Given the description of an element on the screen output the (x, y) to click on. 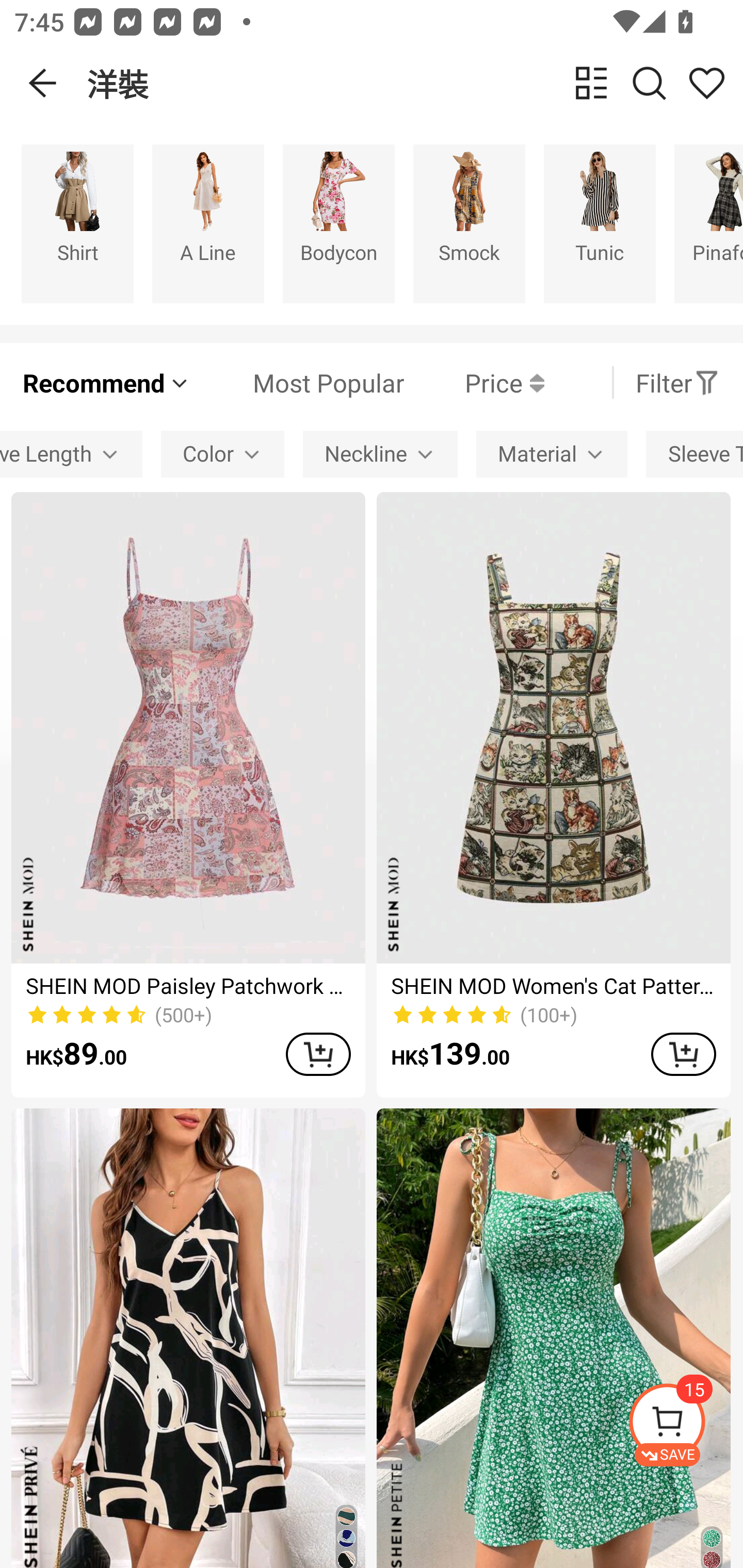
洋裝 change view Search Share (414, 82)
change view (591, 82)
Search (648, 82)
Share (706, 82)
Shirt (77, 223)
A Line (208, 223)
Bodycon (338, 223)
Smock (469, 223)
Tunic (599, 223)
Pinafore (708, 223)
Recommend (106, 382)
Most Popular (297, 382)
Price (474, 382)
Filter (677, 382)
Sleeve Length (71, 454)
Color (222, 454)
Neckline (380, 454)
Material (551, 454)
Sleeve Type (694, 454)
ADD TO CART (318, 1054)
ADD TO CART (683, 1054)
SHEIN Privé Graphic Print Cami Dress (188, 1338)
SAVE (685, 1424)
